Given the description of an element on the screen output the (x, y) to click on. 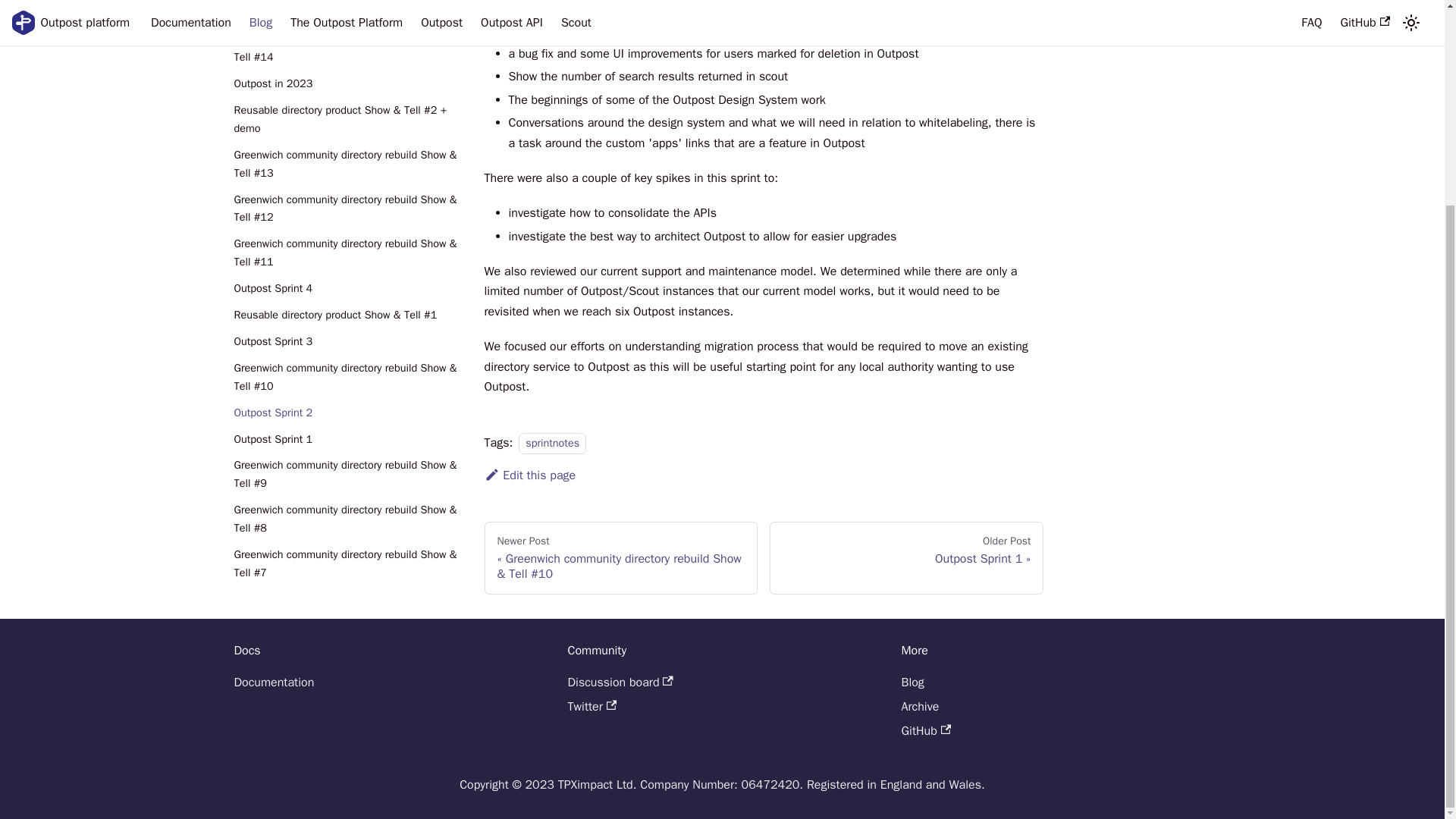
Outpost Sprint 3 (346, 242)
Twitter (591, 706)
Discussion board (619, 682)
Archive (920, 706)
Outpost Sprint 4 (346, 189)
Blog (906, 557)
Documentation (912, 682)
sprintnotes (273, 682)
Outpost Sprint 1 (552, 443)
Outpost Sprint 2 (346, 340)
Edit this page (346, 313)
